Given the description of an element on the screen output the (x, y) to click on. 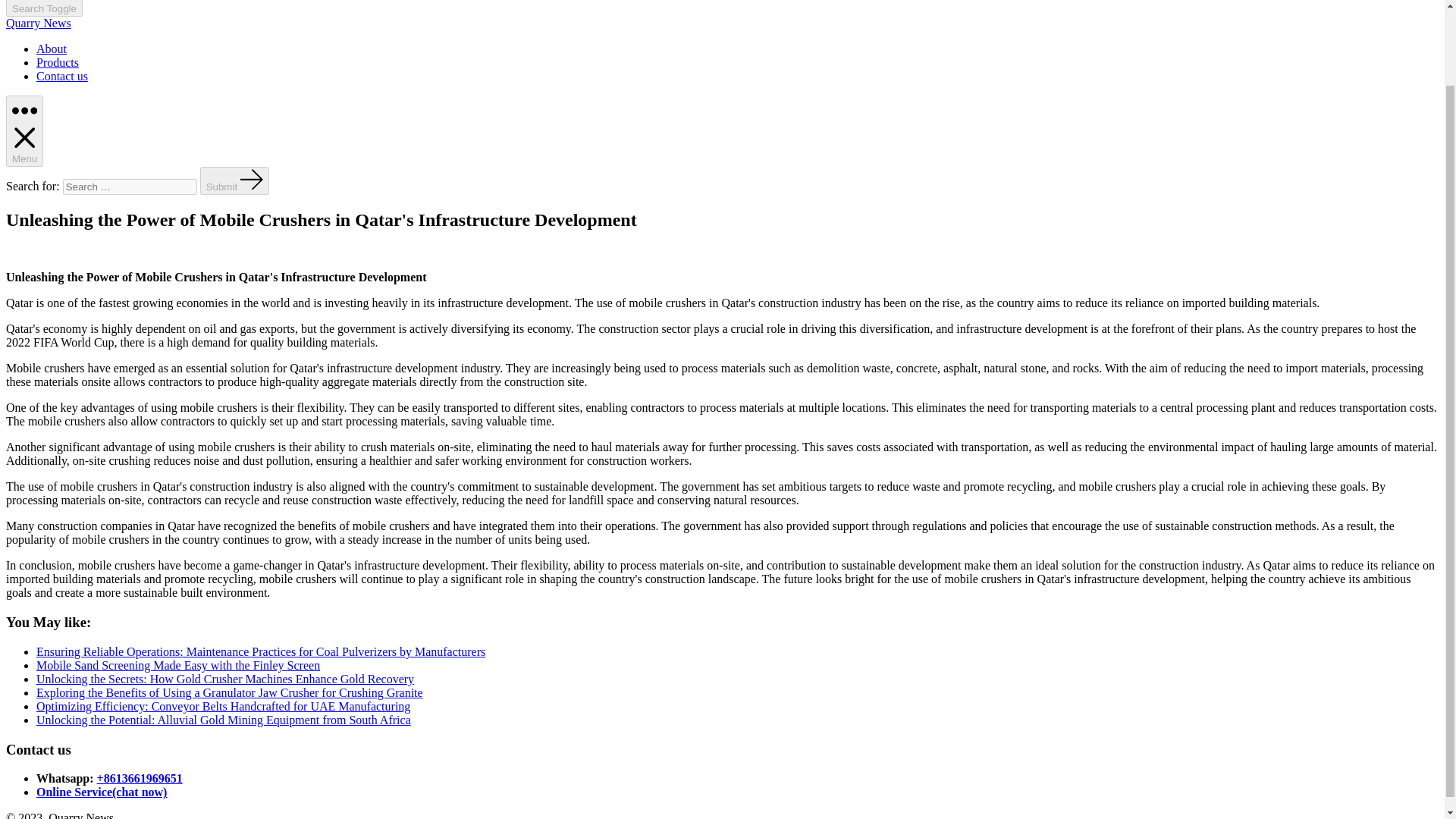
About (51, 48)
Mobile Sand Screening Made Easy with the Finley Screen (178, 665)
Products (57, 62)
Submit (234, 180)
Quarry News (38, 22)
Search Toggle (43, 8)
Contact us (61, 75)
